Given the description of an element on the screen output the (x, y) to click on. 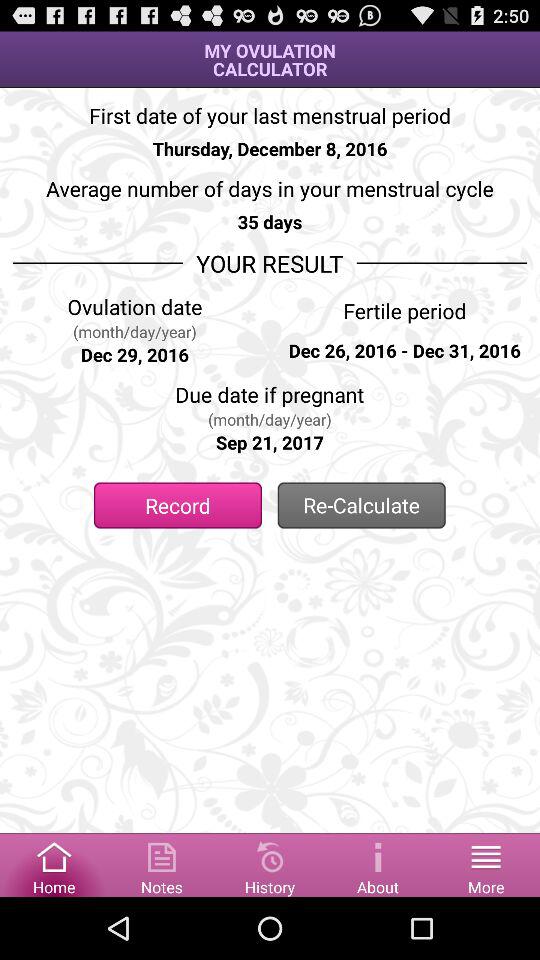
about option box (378, 864)
